Given the description of an element on the screen output the (x, y) to click on. 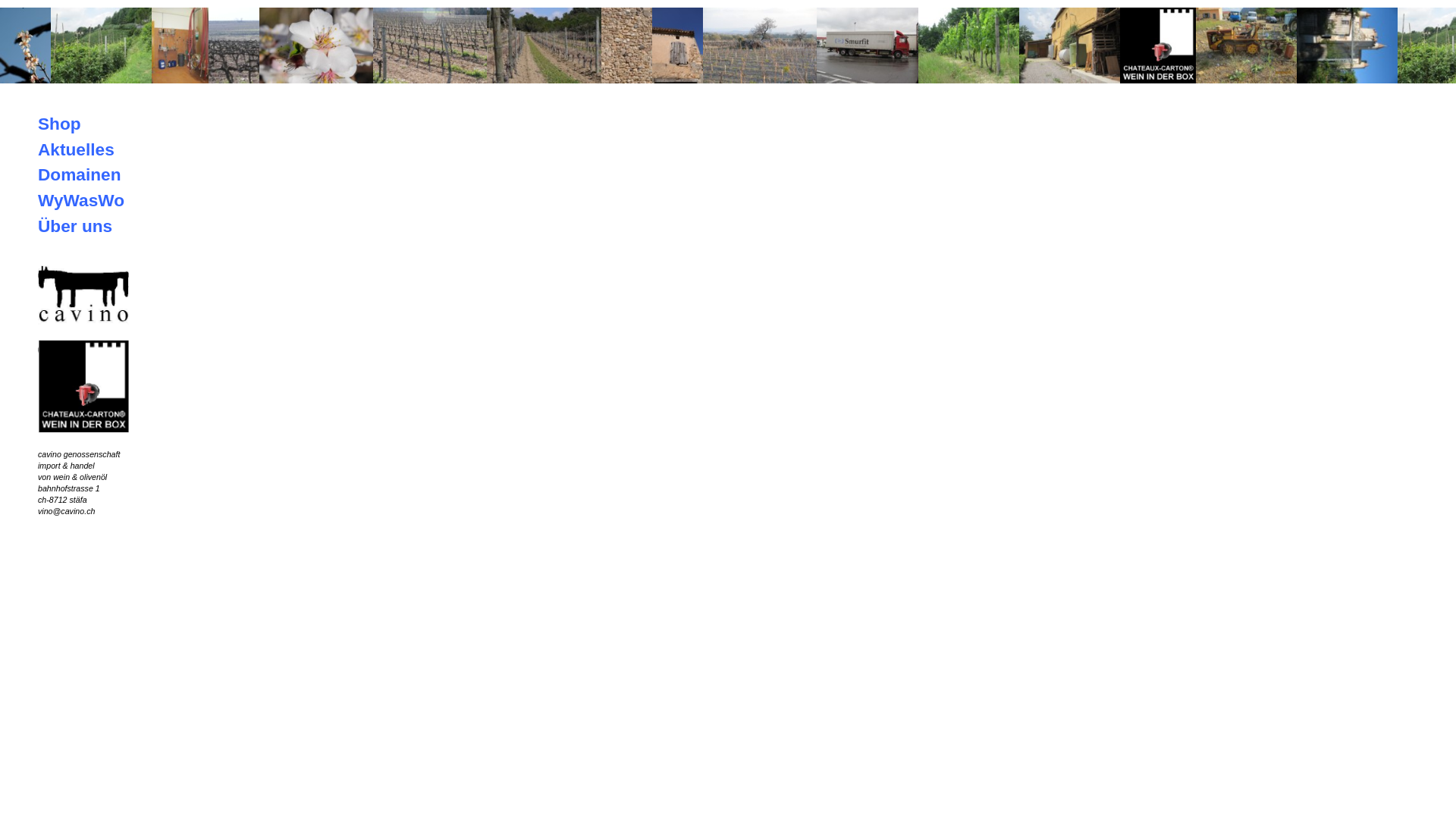
Aktuelles Element type: text (75, 149)
Domainen Element type: text (79, 174)
WyWasWo Element type: text (80, 200)
Shop Element type: text (59, 123)
